Given the description of an element on the screen output the (x, y) to click on. 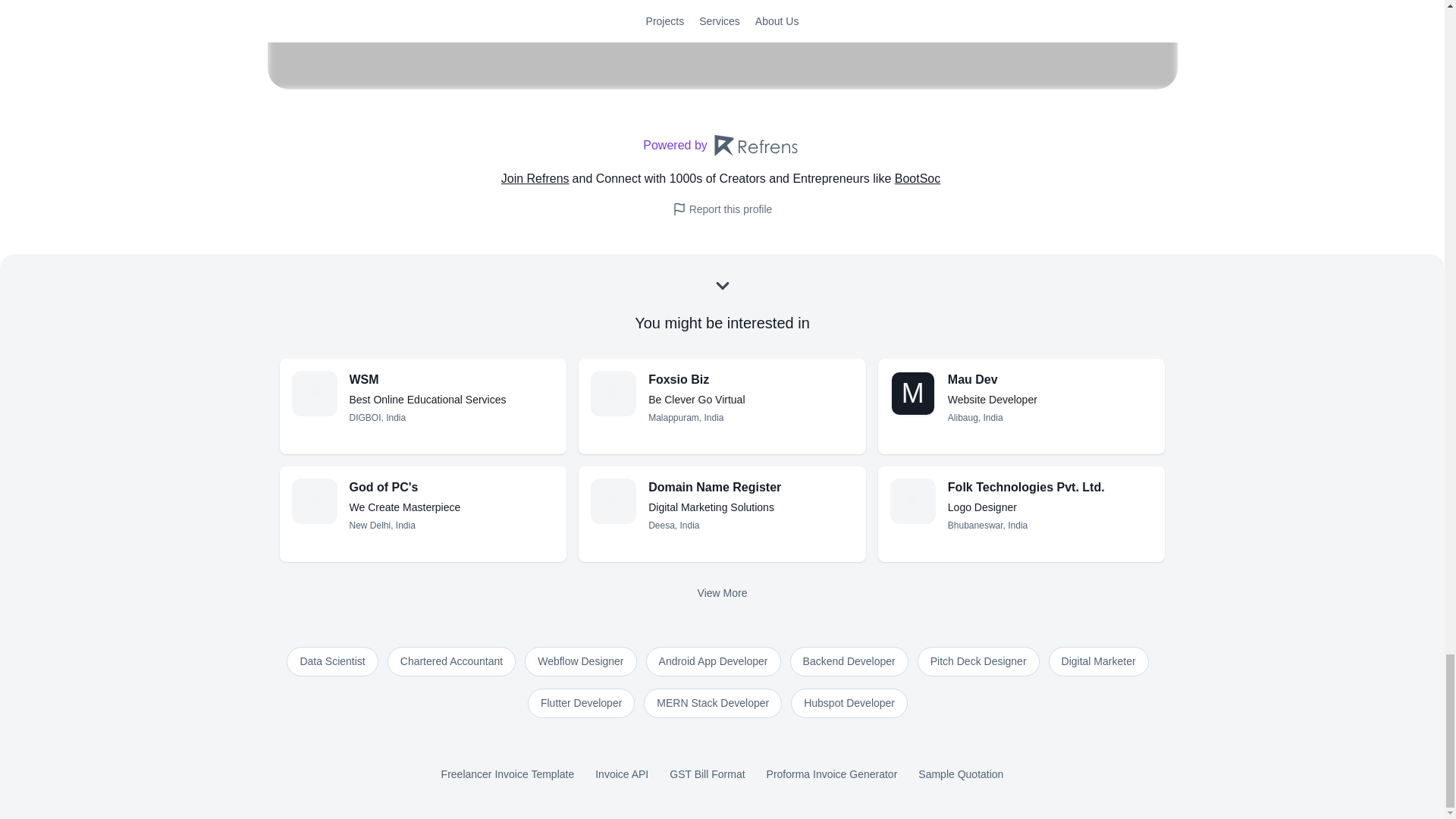
Folk Technologies Pvt. Ltd. (1050, 487)
WSM (451, 380)
WSM (451, 380)
Mau Dev (1050, 380)
God of PC's (313, 500)
Foxsio Biz (750, 380)
Domain Name Register (750, 487)
Contact For Work (722, 6)
WSM (313, 393)
God of PC's (451, 487)
Join Refrens (536, 178)
Foxsio Biz (613, 393)
BootSoc (919, 178)
Foxsio Biz (721, 145)
